Given the description of an element on the screen output the (x, y) to click on. 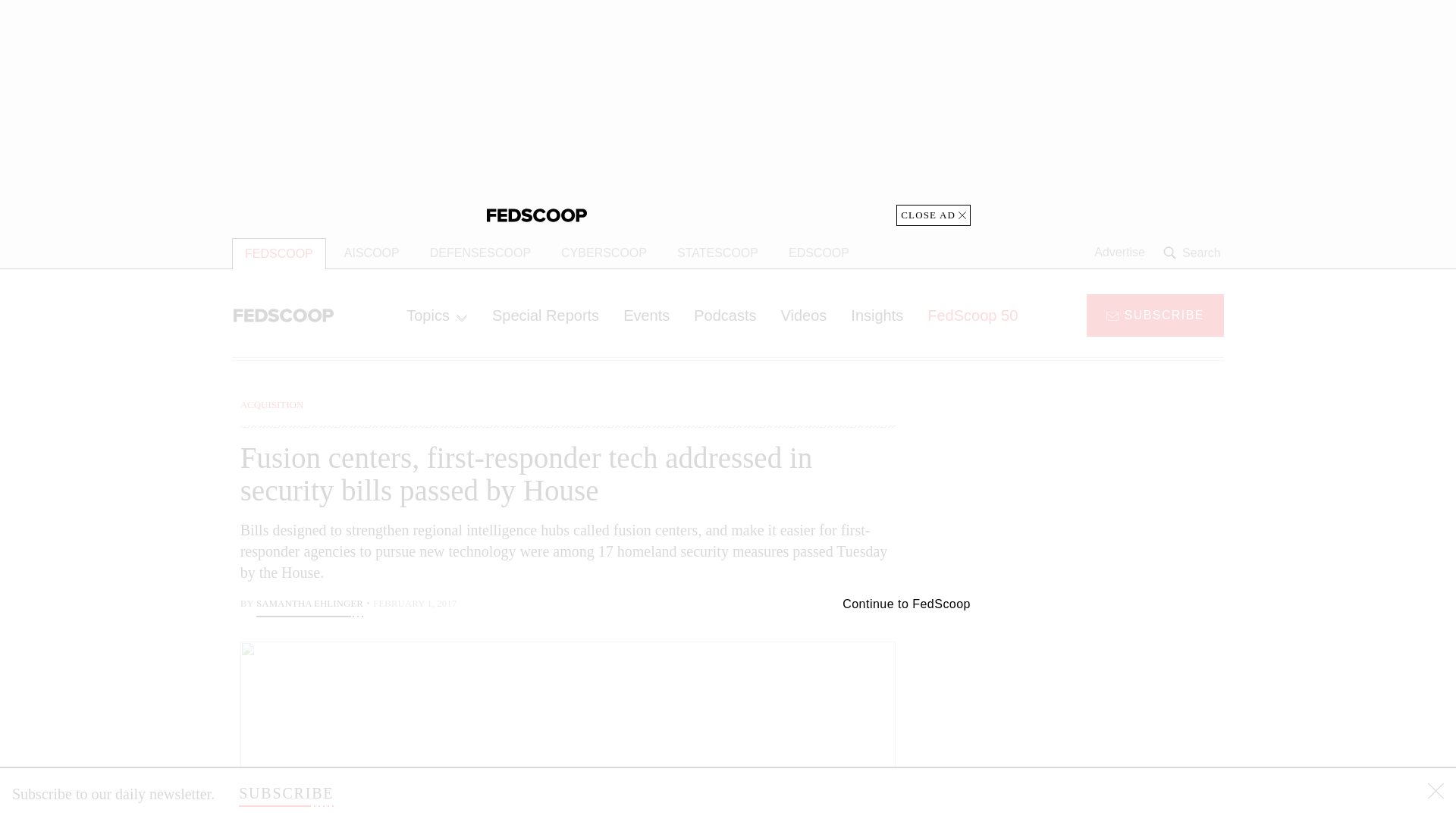
DEFENSESCOOP (480, 253)
Search (1193, 252)
Insights (876, 315)
3rd party ad content (1101, 492)
Podcasts (724, 315)
SAMANTHA EHLINGER (309, 604)
ACQUISITION (272, 404)
Advertise (1119, 252)
Events (646, 315)
Special Reports (545, 315)
EDSCOOP (818, 253)
3rd party ad content (1101, 705)
SUBSCRIBE (285, 793)
